Given the description of an element on the screen output the (x, y) to click on. 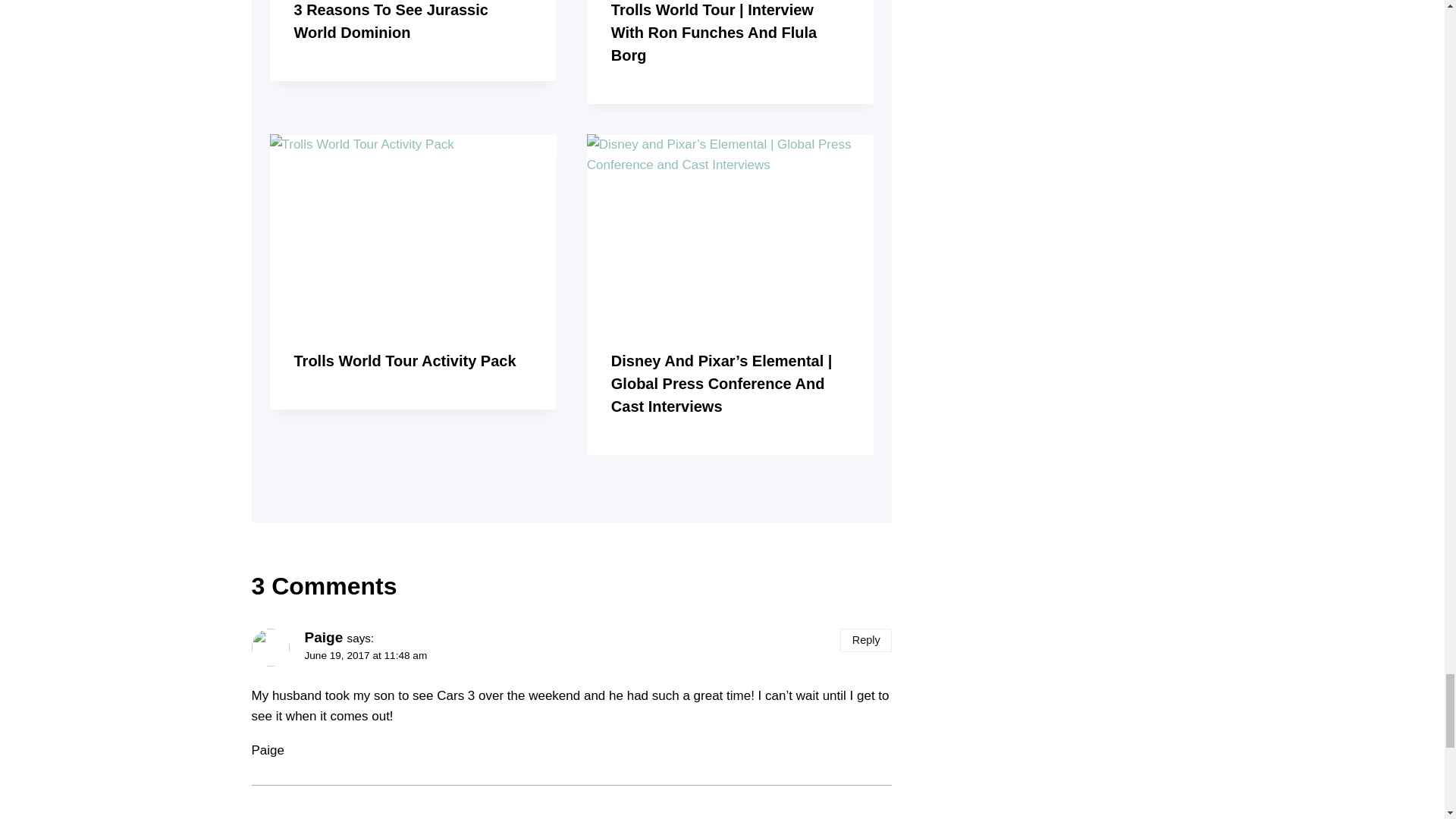
3 Reasons To See Jurassic World Dominion (390, 20)
